Given the description of an element on the screen output the (x, y) to click on. 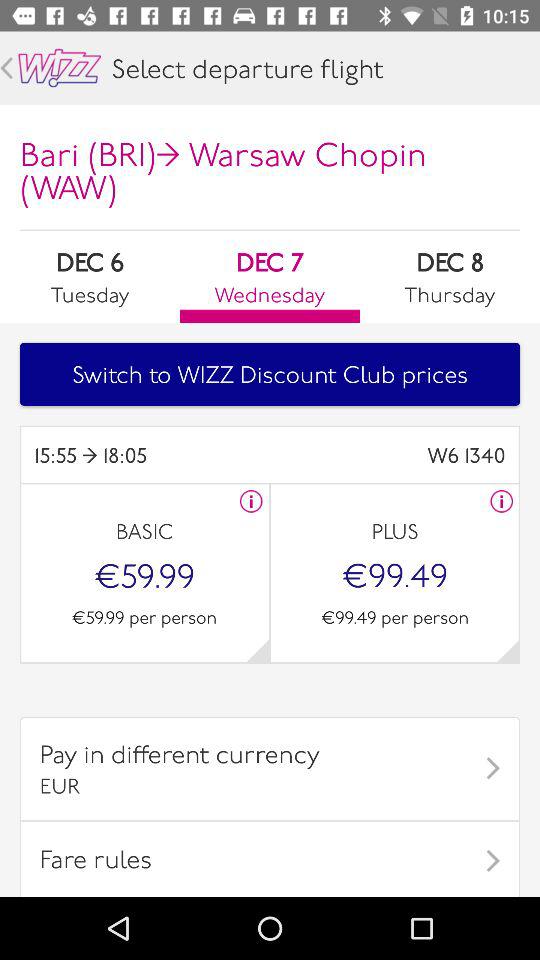
click for more details (251, 501)
